Given the description of an element on the screen output the (x, y) to click on. 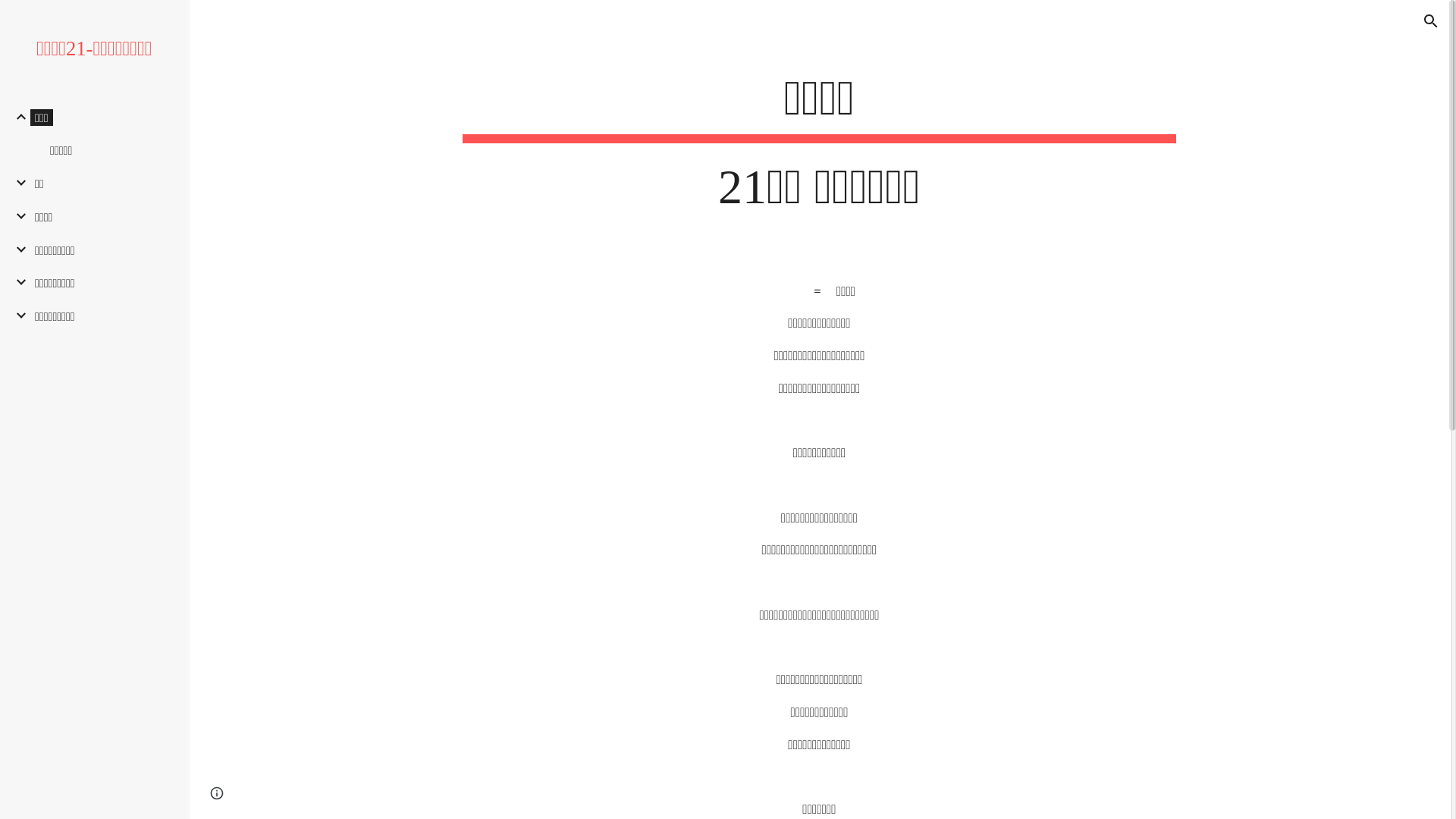
Expand/Collapse Element type: hover (16, 182)
Expand/Collapse Element type: hover (16, 315)
Expand/Collapse Element type: hover (16, 116)
Expand/Collapse Element type: hover (16, 282)
Expand/Collapse Element type: hover (16, 216)
Expand/Collapse Element type: hover (16, 249)
